Given the description of an element on the screen output the (x, y) to click on. 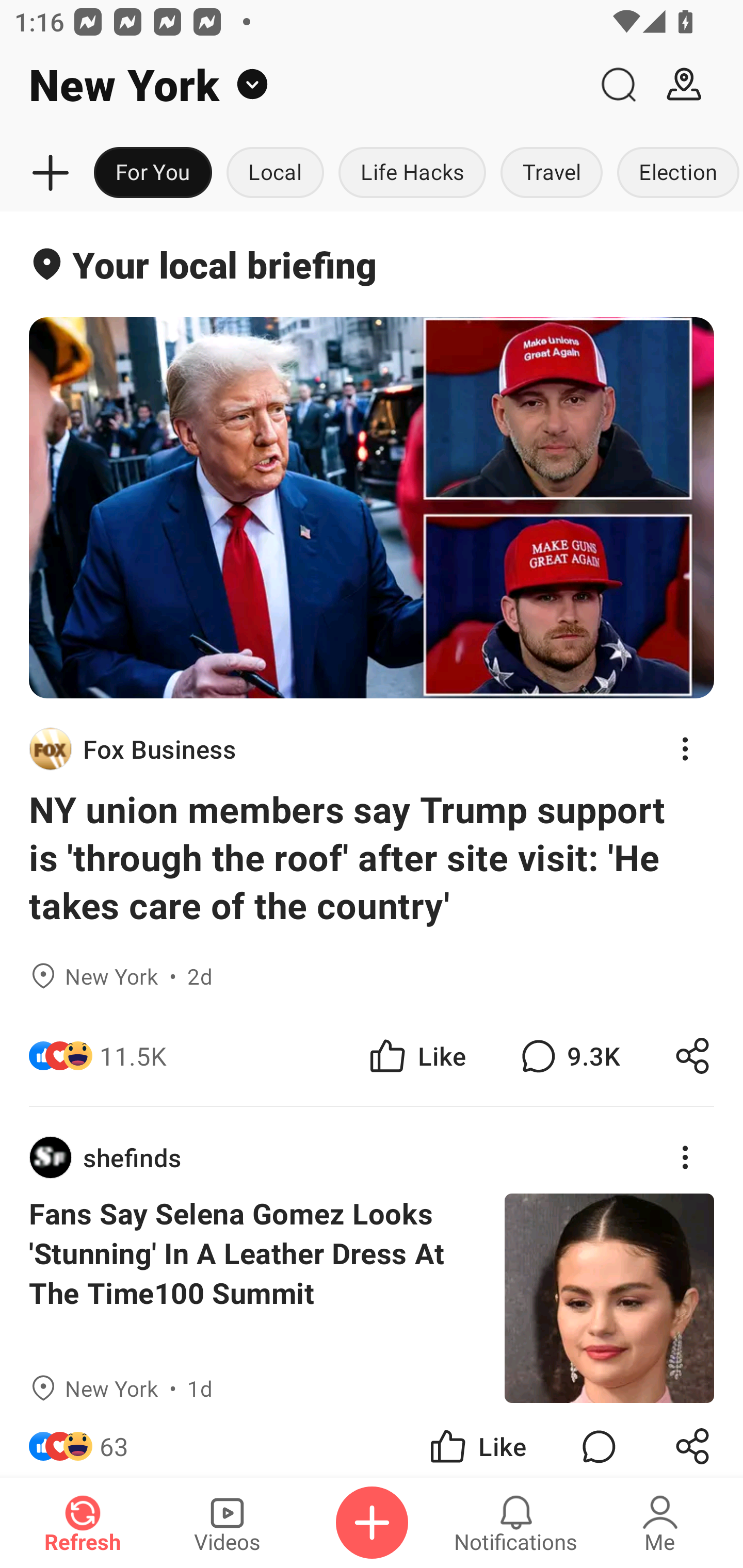
New York (292, 84)
For You (152, 172)
Local (275, 172)
Life Hacks (412, 172)
Travel (551, 172)
Election (676, 172)
11.5K (133, 1055)
Like (416, 1055)
9.3K (568, 1055)
63 (113, 1440)
Like (476, 1440)
Videos (227, 1522)
Notifications (516, 1522)
Me (659, 1522)
